Given the description of an element on the screen output the (x, y) to click on. 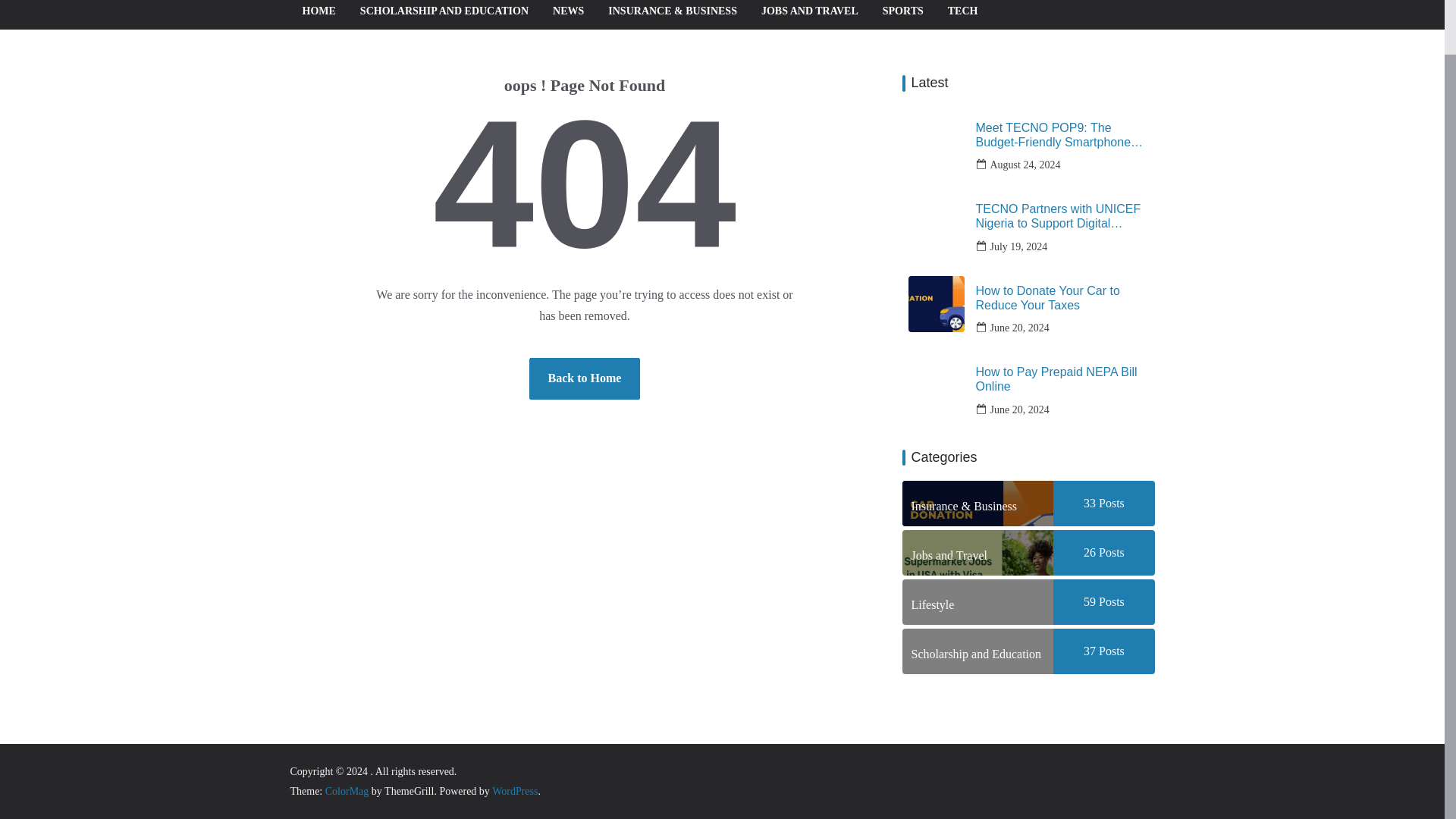
August 24, 2024 (1025, 164)
How to Donate Your Car to Reduce Your Taxes (1061, 297)
ColorMag (346, 790)
WordPress (514, 790)
Posts (1110, 650)
Jobs and Travel (978, 552)
59 (1089, 601)
How to Pay Prepaid NEPA Bill Online (1061, 378)
HOME (317, 11)
July 19, 2024 (1019, 246)
